Given the description of an element on the screen output the (x, y) to click on. 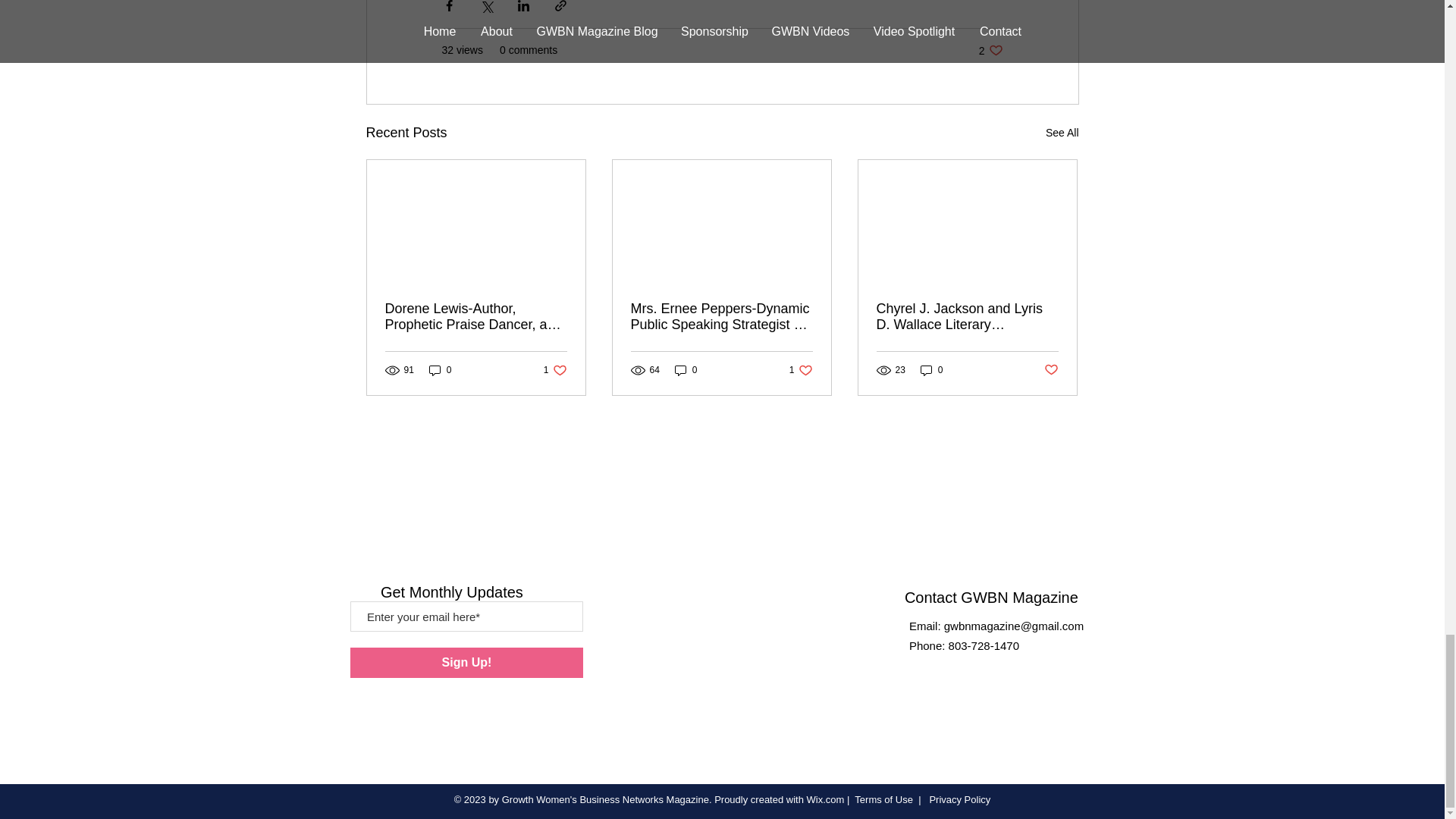
See All (990, 50)
Dorene Lewis-Author, Prophetic Praise Dancer, and Speaker (1061, 133)
0 (476, 316)
